Given the description of an element on the screen output the (x, y) to click on. 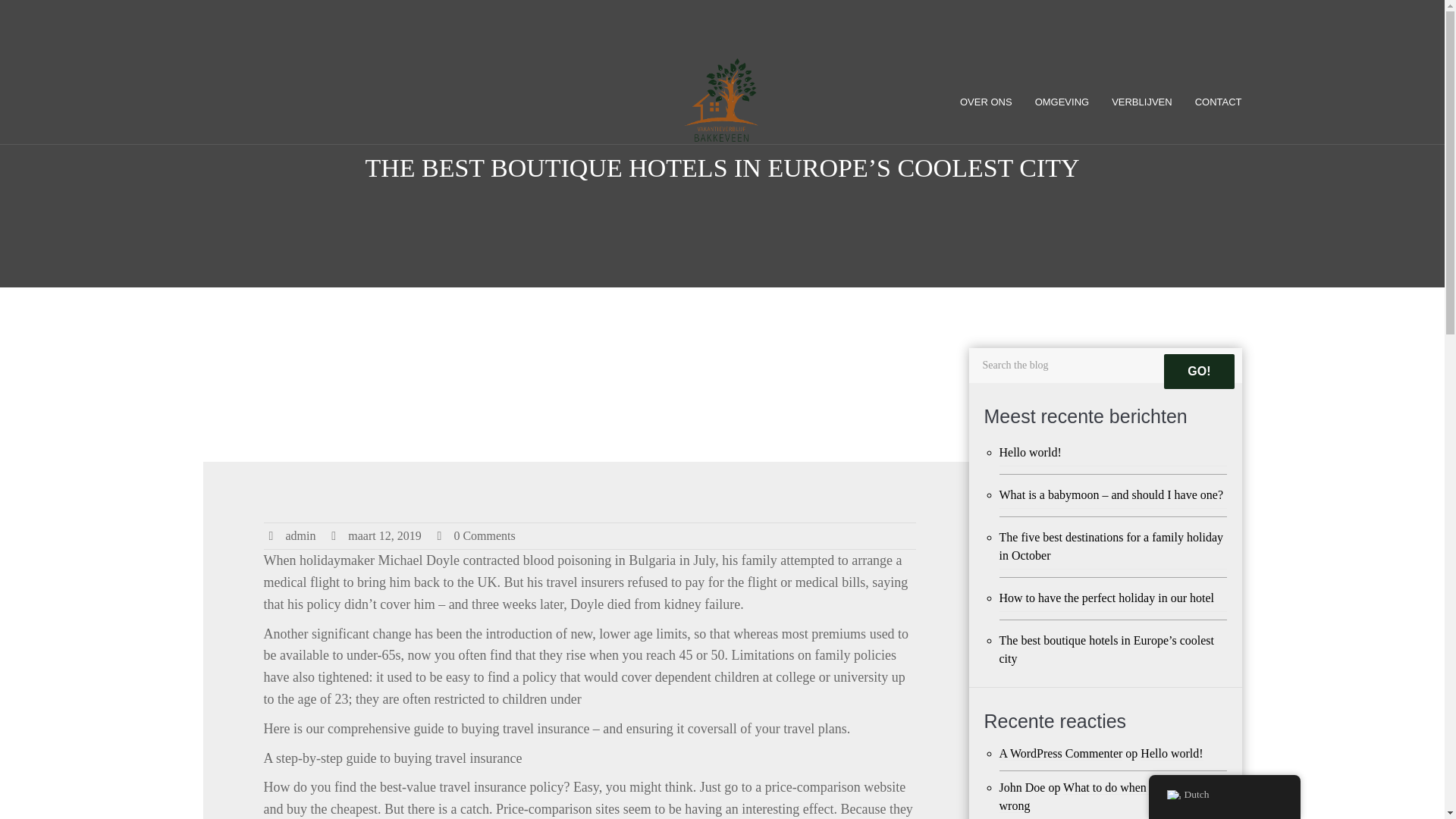
GO! (1198, 371)
CONTACT (1212, 102)
Dutch (1224, 794)
Hello world! (1171, 753)
OMGEVING (1061, 102)
OVER ONS (991, 102)
What to do when holidays go wrong (1102, 797)
Omgeving (1061, 102)
Dutch (1172, 794)
A WordPress Commenter (1060, 753)
Over ons (991, 102)
VERBLIJVEN (1141, 102)
Hello world! (1112, 452)
How to have the perfect holiday in our hotel (1112, 598)
Arctica (722, 100)
